Given the description of an element on the screen output the (x, y) to click on. 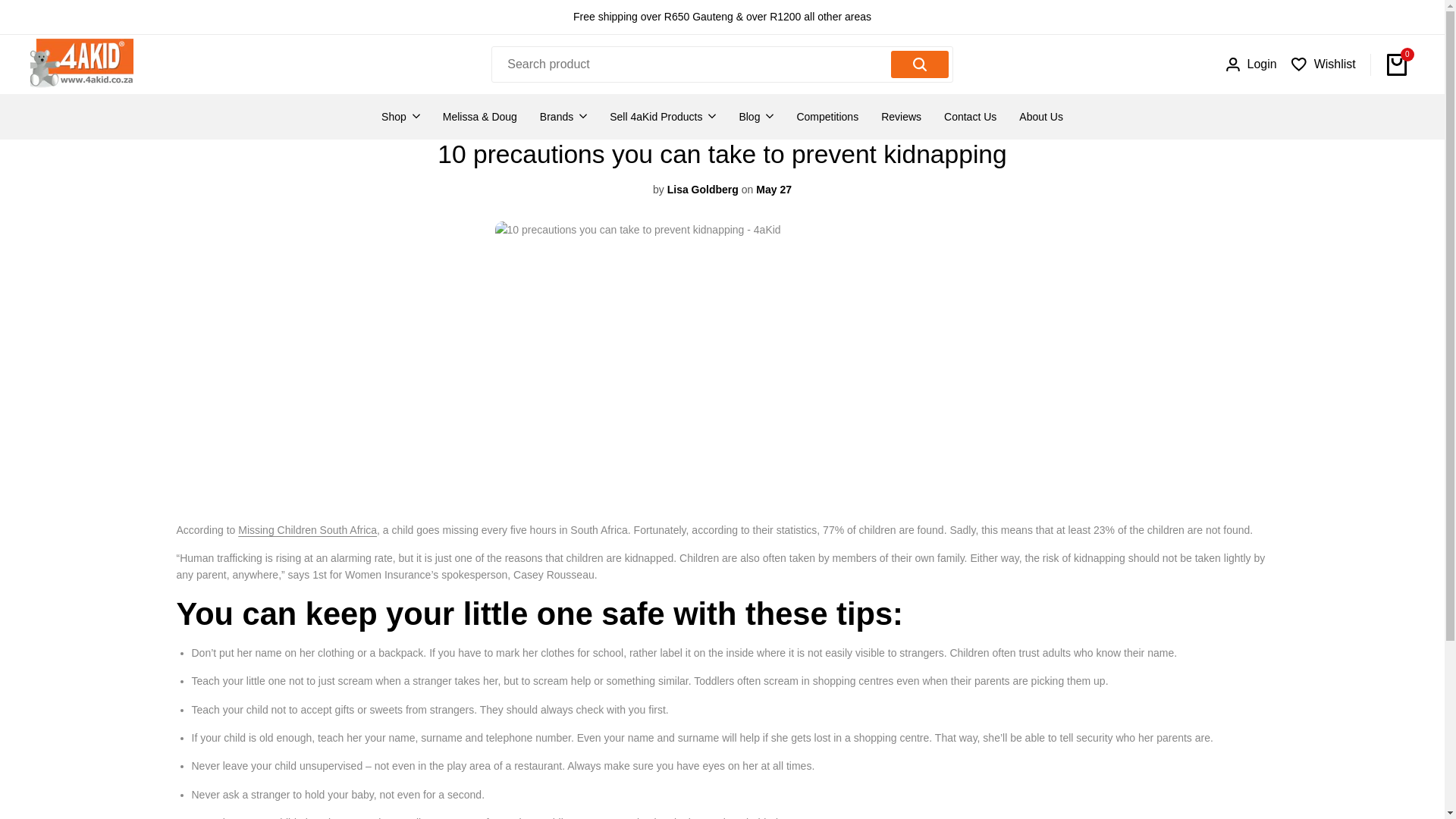
0 (1396, 64)
Missing Children South Africa (307, 530)
Contact Us (969, 116)
Reviews (900, 116)
Login (1250, 64)
About Us (1040, 116)
Competitions (827, 116)
10 precautions you can take to prevent kidnapping (307, 530)
Wishlist (1323, 64)
